Given the description of an element on the screen output the (x, y) to click on. 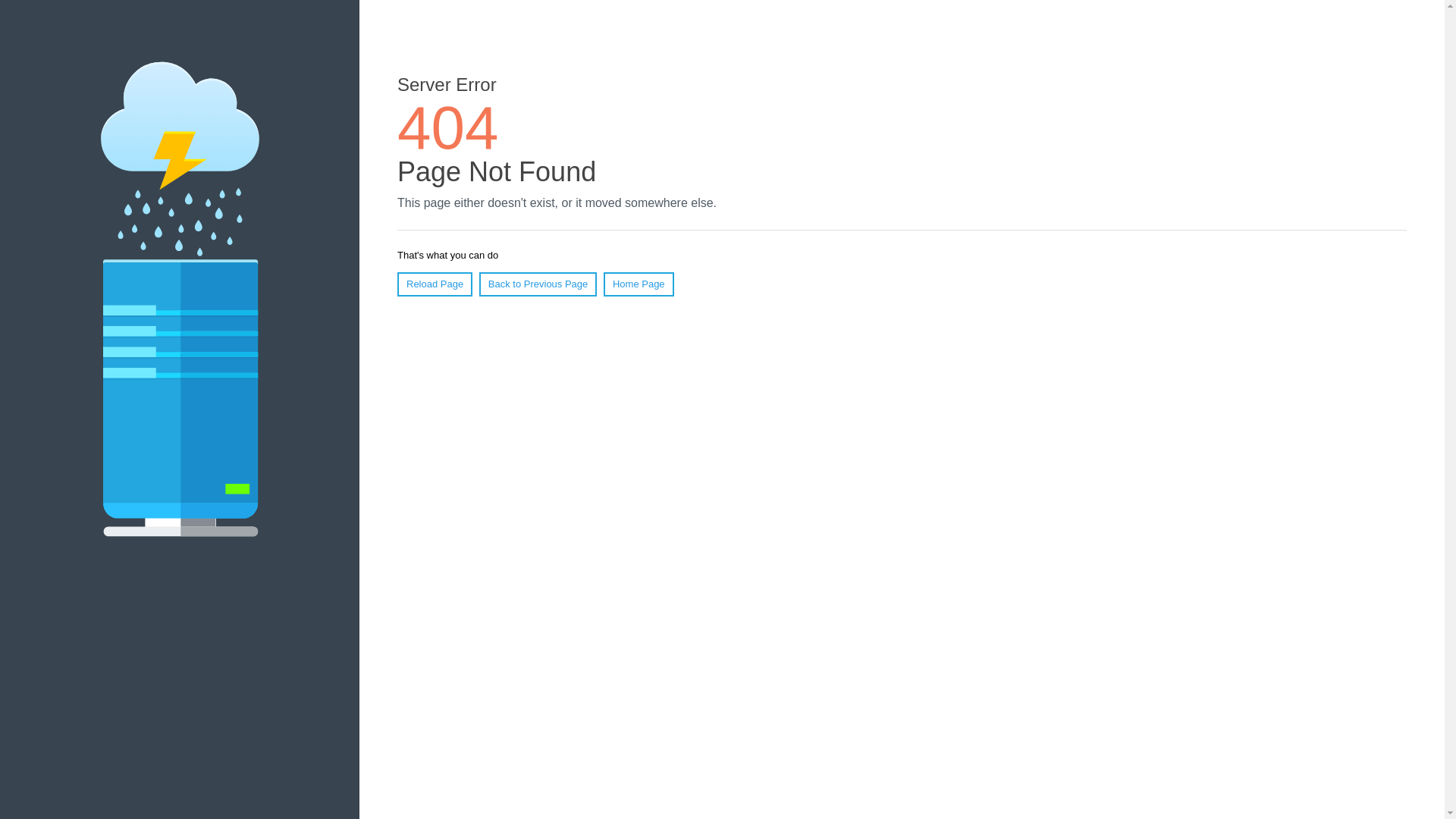
Reload Page Element type: text (434, 284)
Home Page Element type: text (638, 284)
Back to Previous Page Element type: text (538, 284)
